Given the description of an element on the screen output the (x, y) to click on. 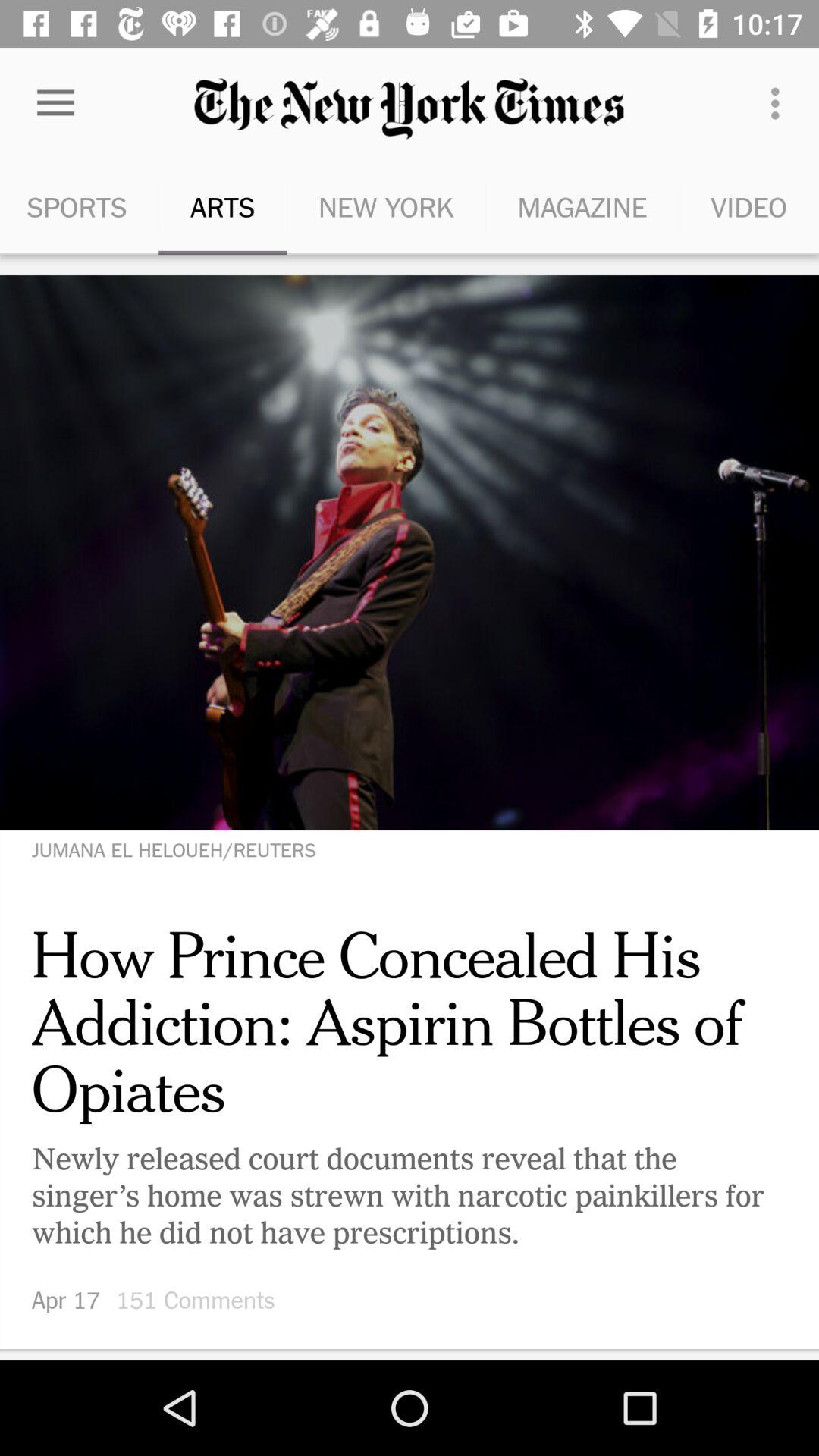
turn on the item next to video (582, 206)
